Given the description of an element on the screen output the (x, y) to click on. 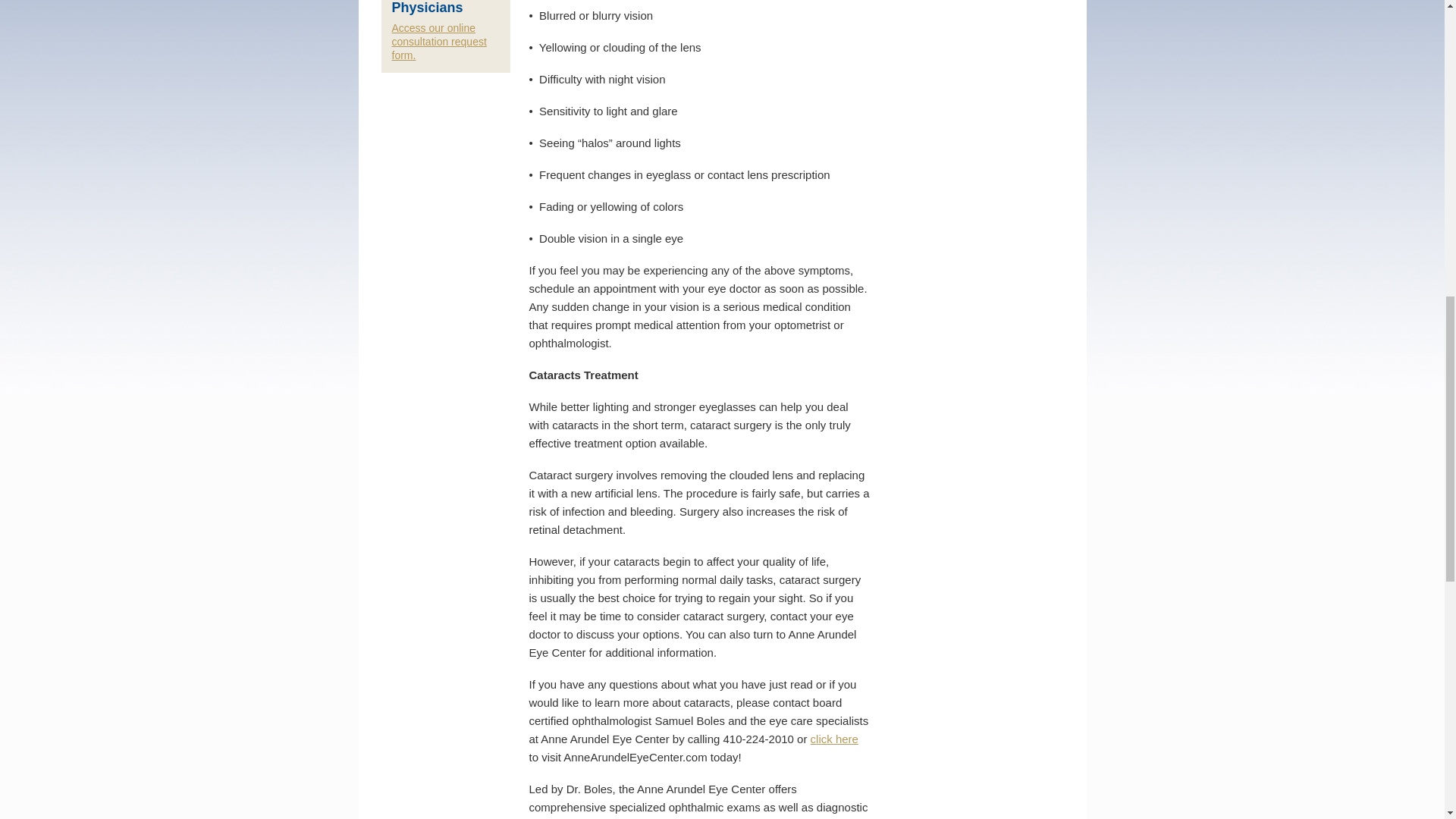
click here (834, 738)
